Given the description of an element on the screen output the (x, y) to click on. 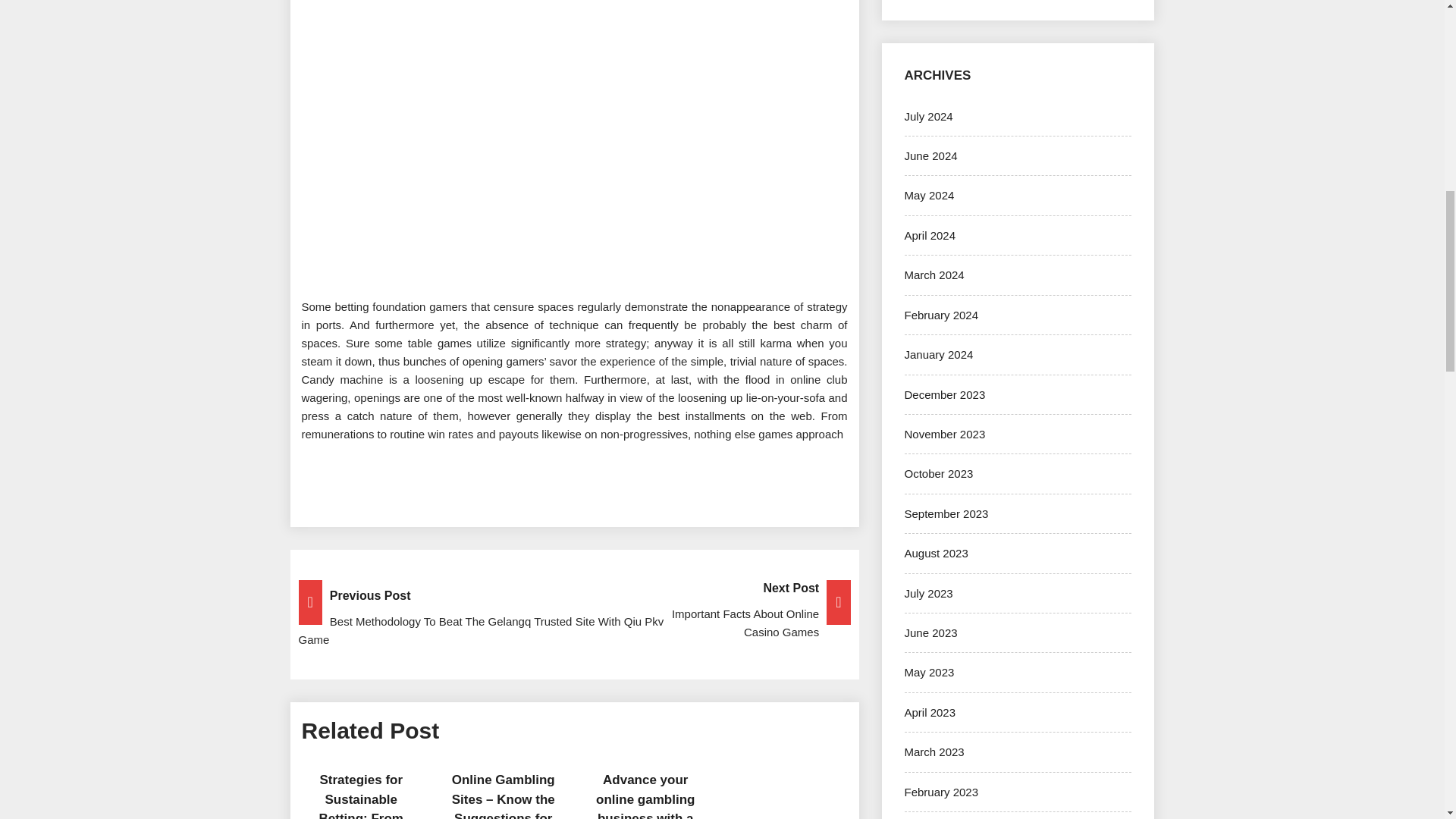
April 2024 (929, 235)
March 2024 (933, 274)
June 2024 (930, 155)
May 2024 (928, 195)
July 2024 (928, 115)
November 2023 (944, 433)
December 2023 (944, 394)
January 2024 (938, 354)
February 2024 (941, 314)
